Given the description of an element on the screen output the (x, y) to click on. 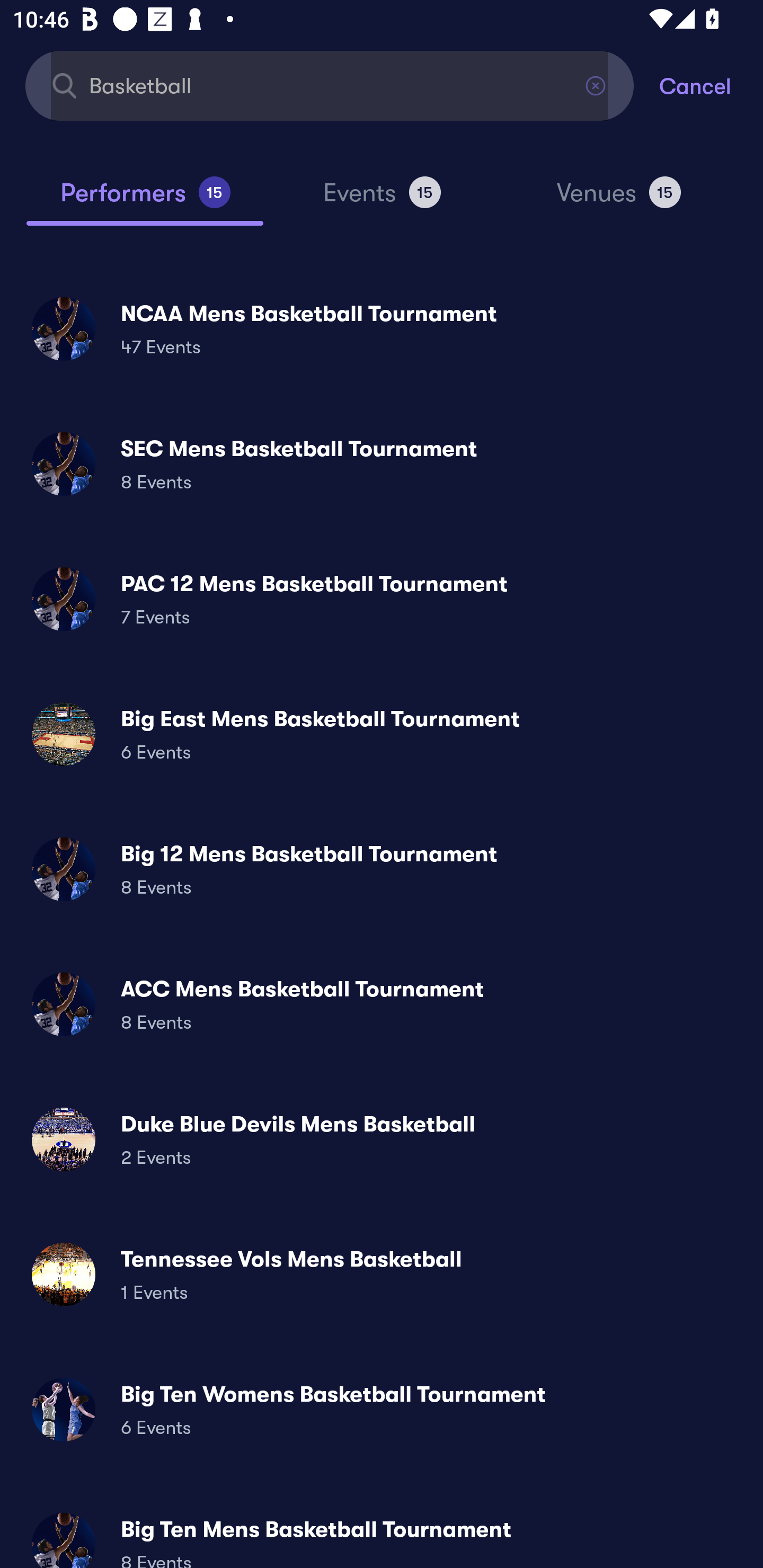
Basketball Find (329, 85)
Basketball Find (329, 85)
Cancel (711, 85)
Performers 15 (144, 200)
Events 15 (381, 200)
Venues 15 (618, 200)
NCAA Mens Basketball Tournament 47 Events (381, 328)
SEC Mens Basketball Tournament 8 Events (381, 464)
PAC 12 Mens Basketball Tournament 7 Events (381, 598)
Big East Mens Basketball Tournament 6 Events (381, 734)
Big 12 Mens Basketball Tournament 8 Events (381, 869)
ACC Mens Basketball Tournament 8 Events (381, 1004)
Duke Blue Devils Mens Basketball 2 Events (381, 1138)
Tennessee Vols Mens Basketball 1 Events (381, 1273)
Big Ten Womens Basketball Tournament 6 Events (381, 1409)
Big Ten Mens Basketball Tournament 8 Events (381, 1532)
